Given the description of an element on the screen output the (x, y) to click on. 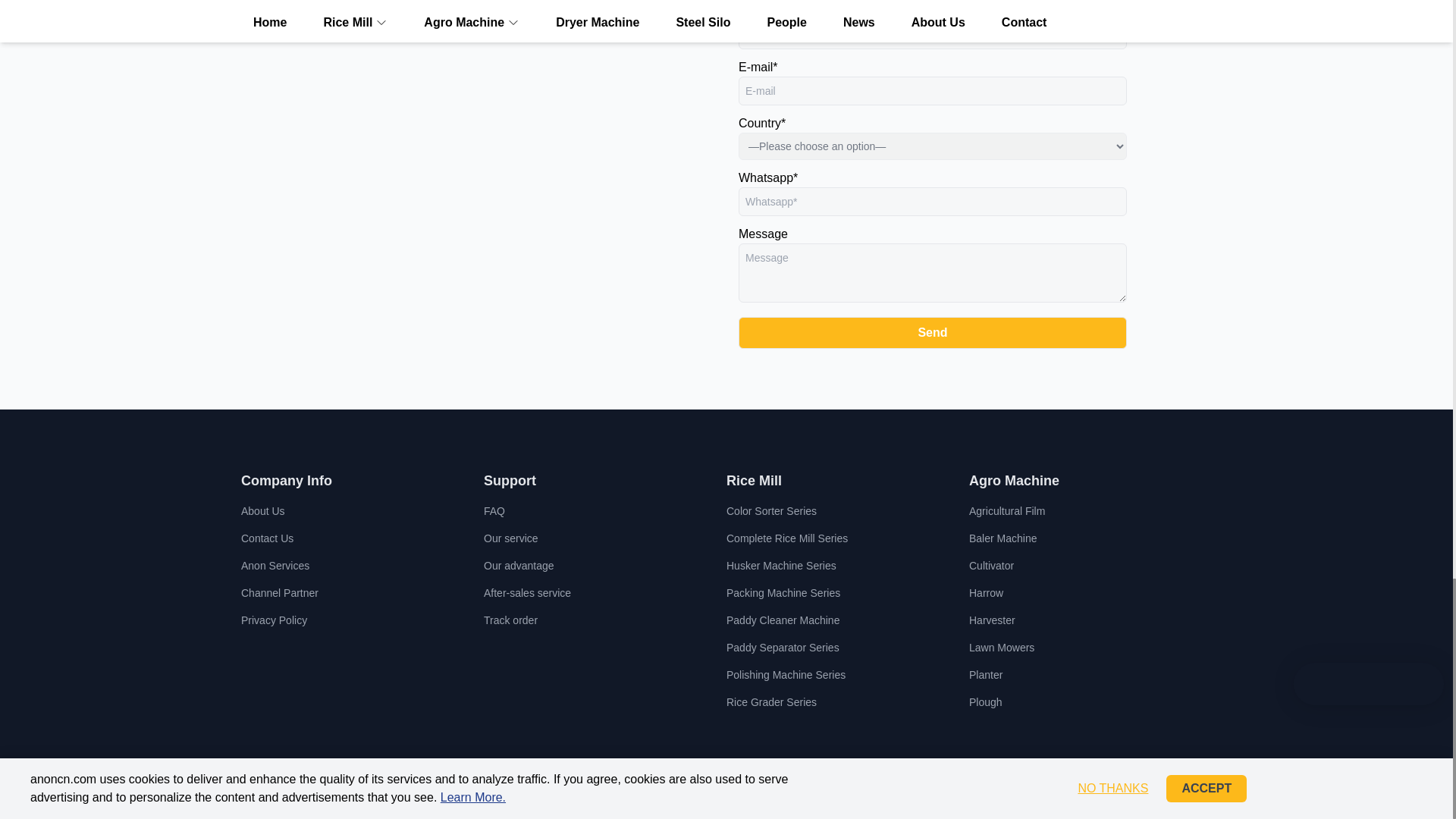
Send (932, 332)
